Given the description of an element on the screen output the (x, y) to click on. 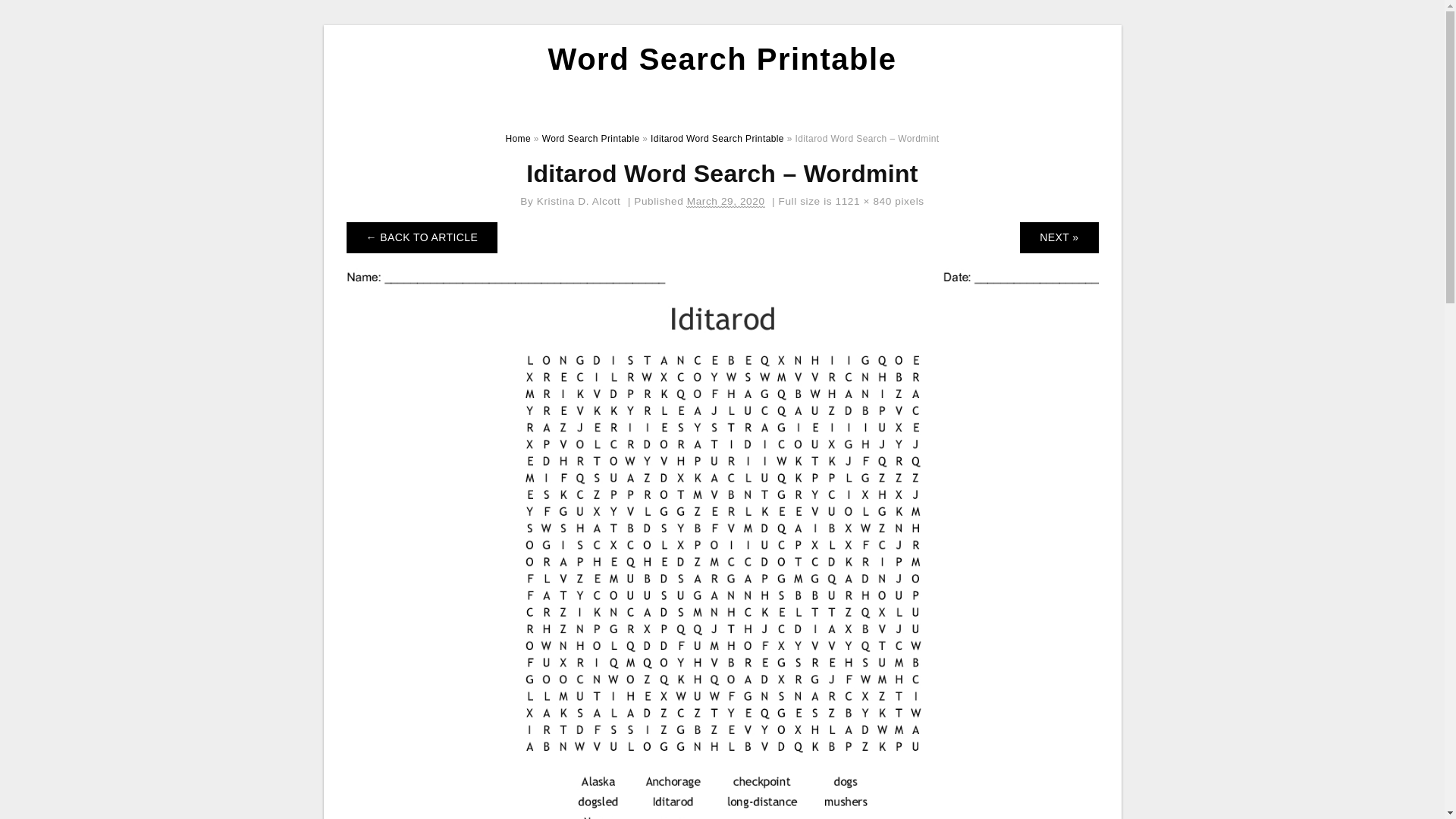
View all posts by Kristina D. Alcott (579, 201)
Word Search Printable (590, 138)
12:49 am (726, 201)
Word Search Printable (722, 59)
Kristina D. Alcott (579, 201)
Home (518, 138)
Link to full-size image (863, 201)
Return to Iditarod Word Search Printable (421, 237)
Iditarod Word Search Printable (717, 138)
